Given the description of an element on the screen output the (x, y) to click on. 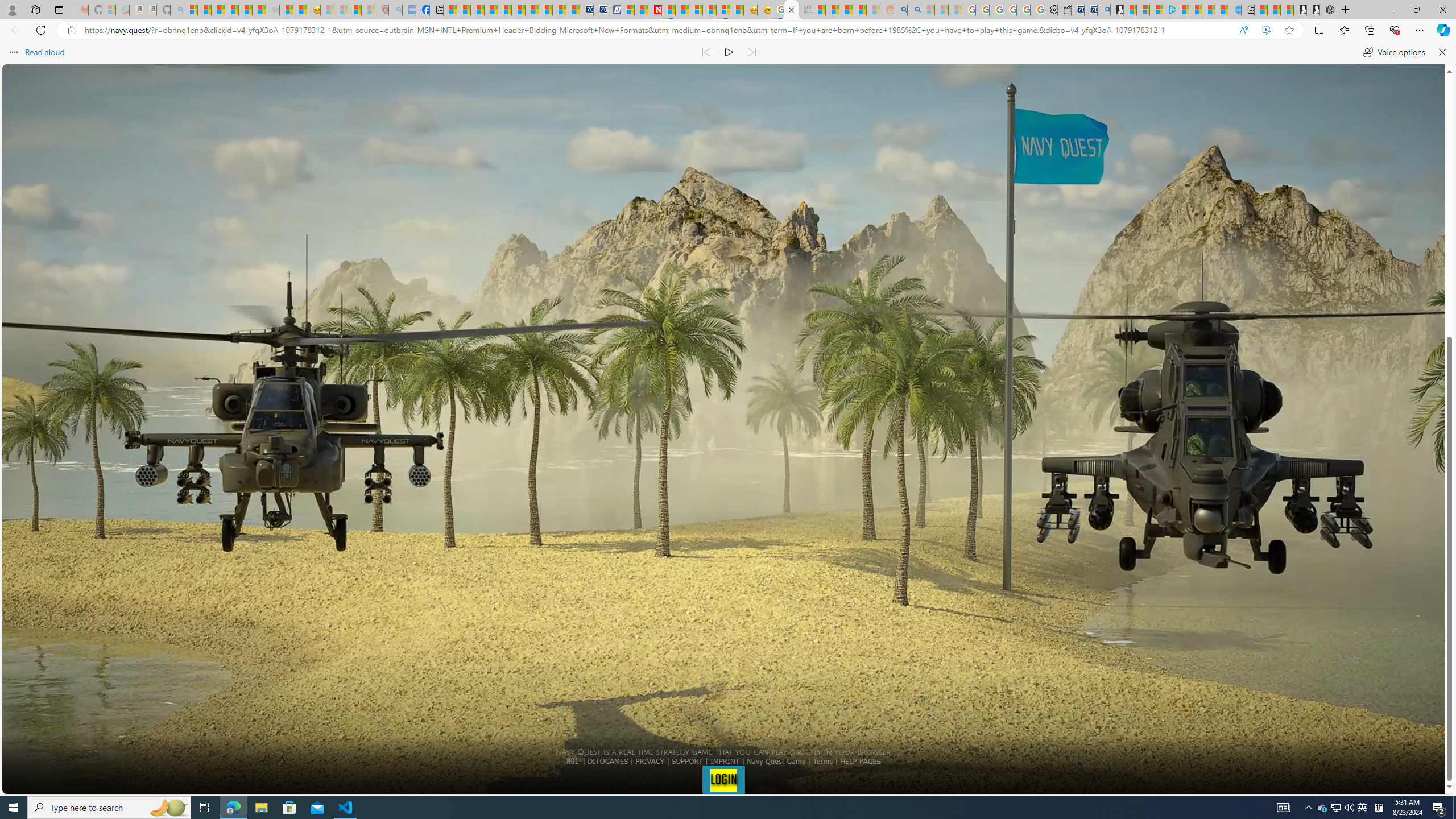
Terms (822, 760)
Read next paragraph (750, 52)
Navy Quest Game (776, 760)
